Given the description of an element on the screen output the (x, y) to click on. 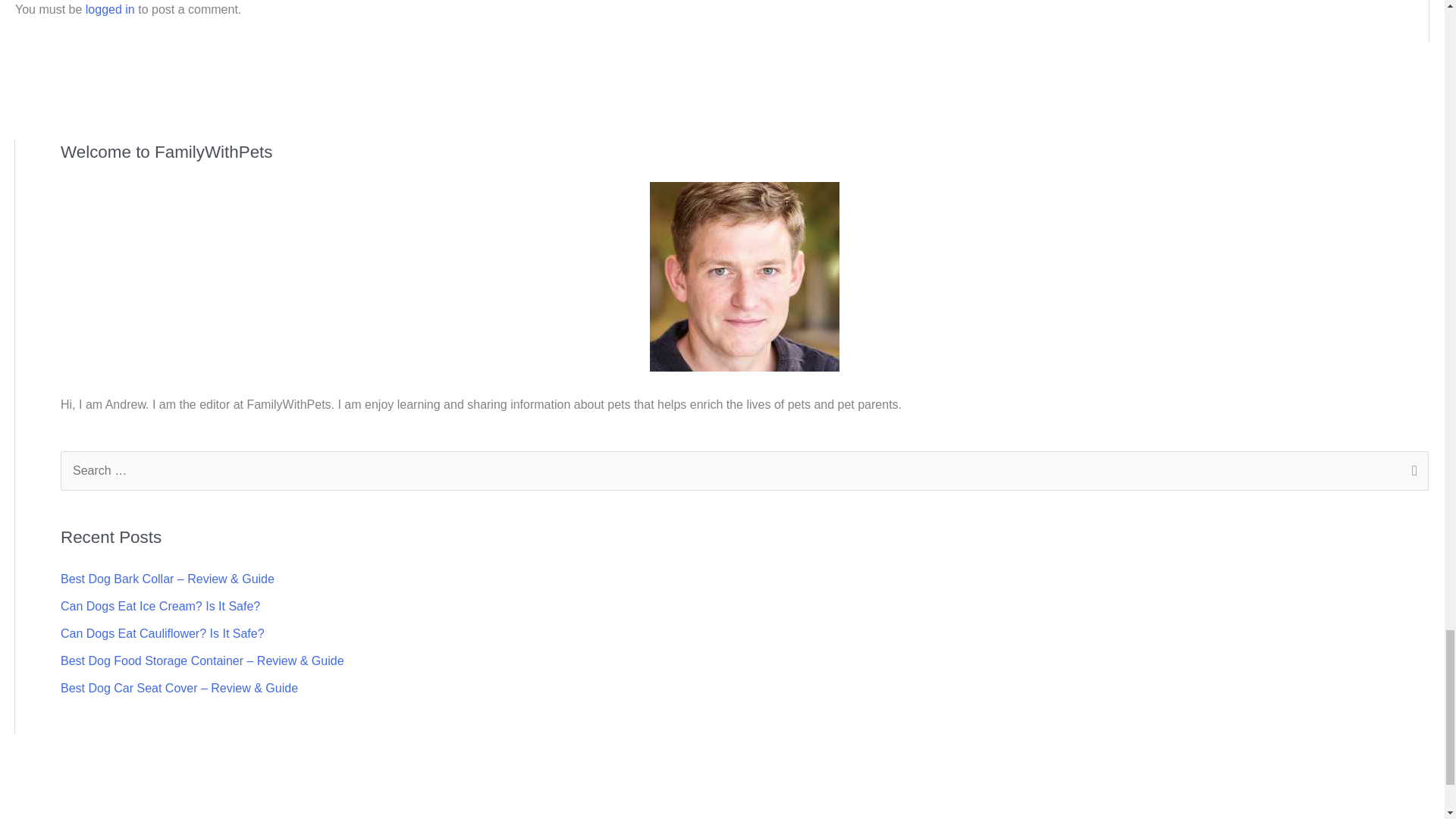
Can Dogs Eat Cauliflower? Is It Safe? (162, 633)
Can Dogs Eat Ice Cream? Is It Safe? (160, 605)
logged in (110, 9)
